Given the description of an element on the screen output the (x, y) to click on. 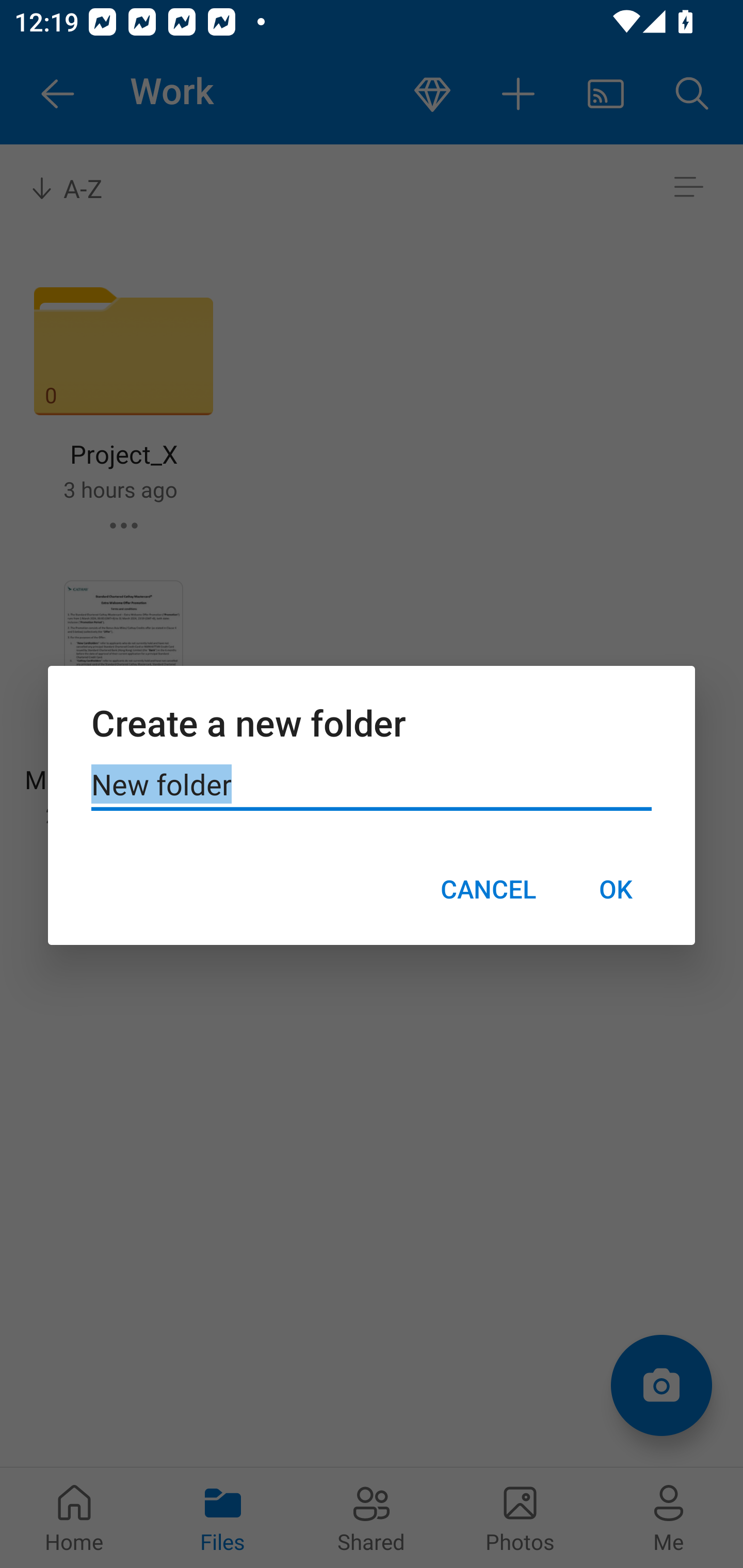
New folder (371, 784)
CANCEL (488, 888)
OK (615, 888)
